Given the description of an element on the screen output the (x, y) to click on. 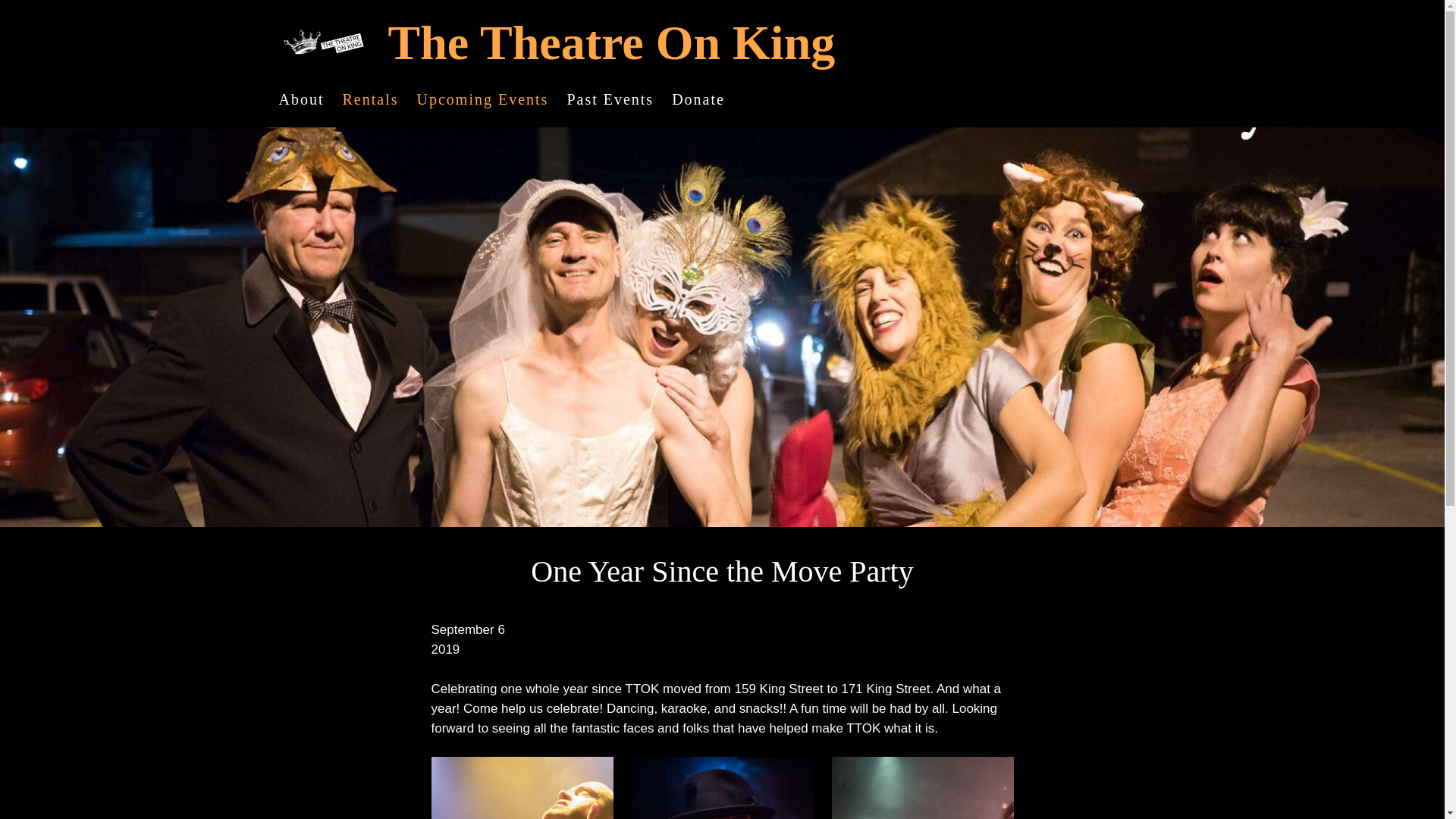
Past Events (609, 98)
About (301, 98)
Donate (698, 98)
Upcoming Events (482, 98)
Rentals (370, 98)
